Given the description of an element on the screen output the (x, y) to click on. 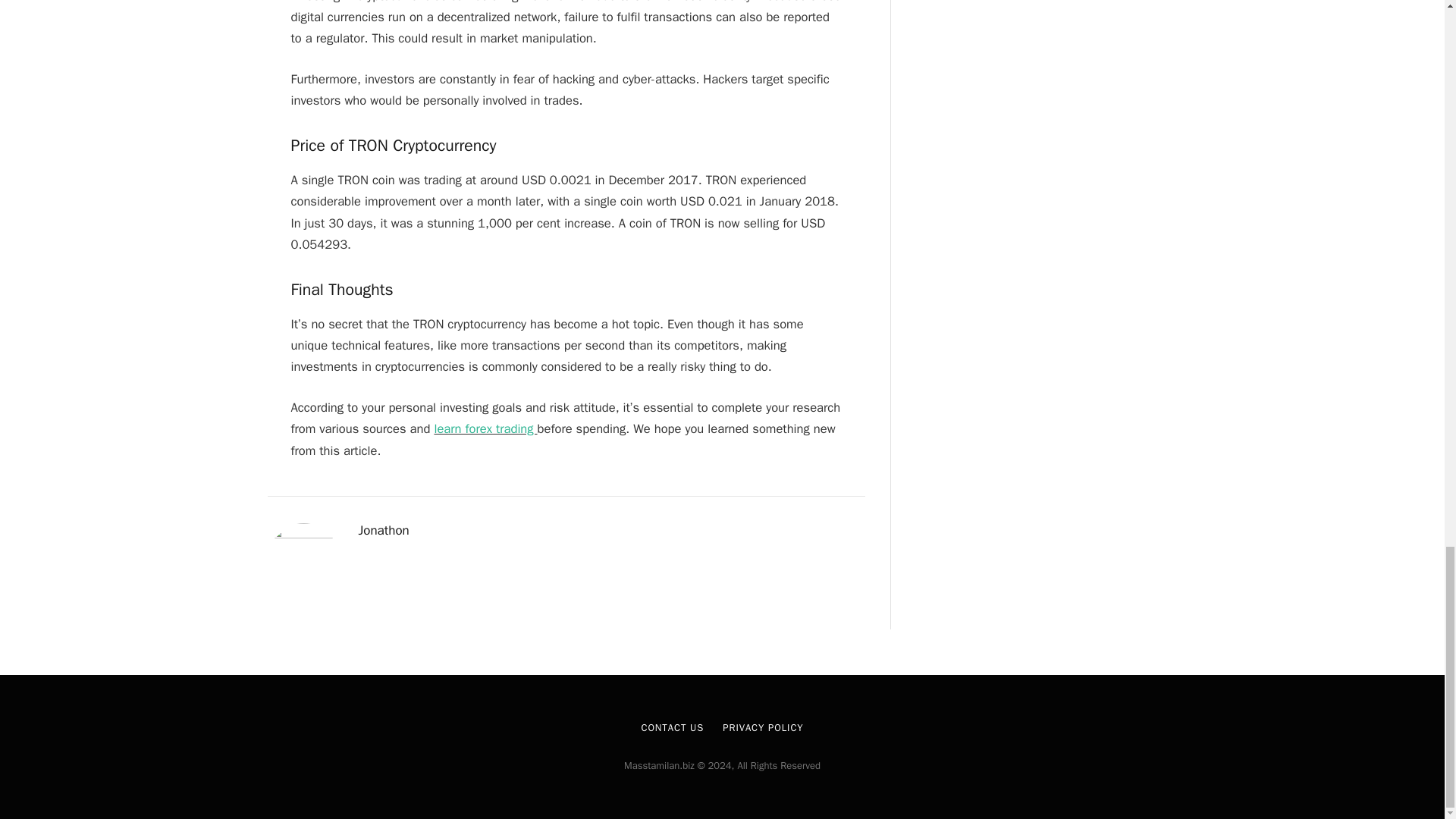
learn forex trading (485, 428)
Posts by Jonathon (383, 530)
Jonathon (383, 530)
